Given the description of an element on the screen output the (x, y) to click on. 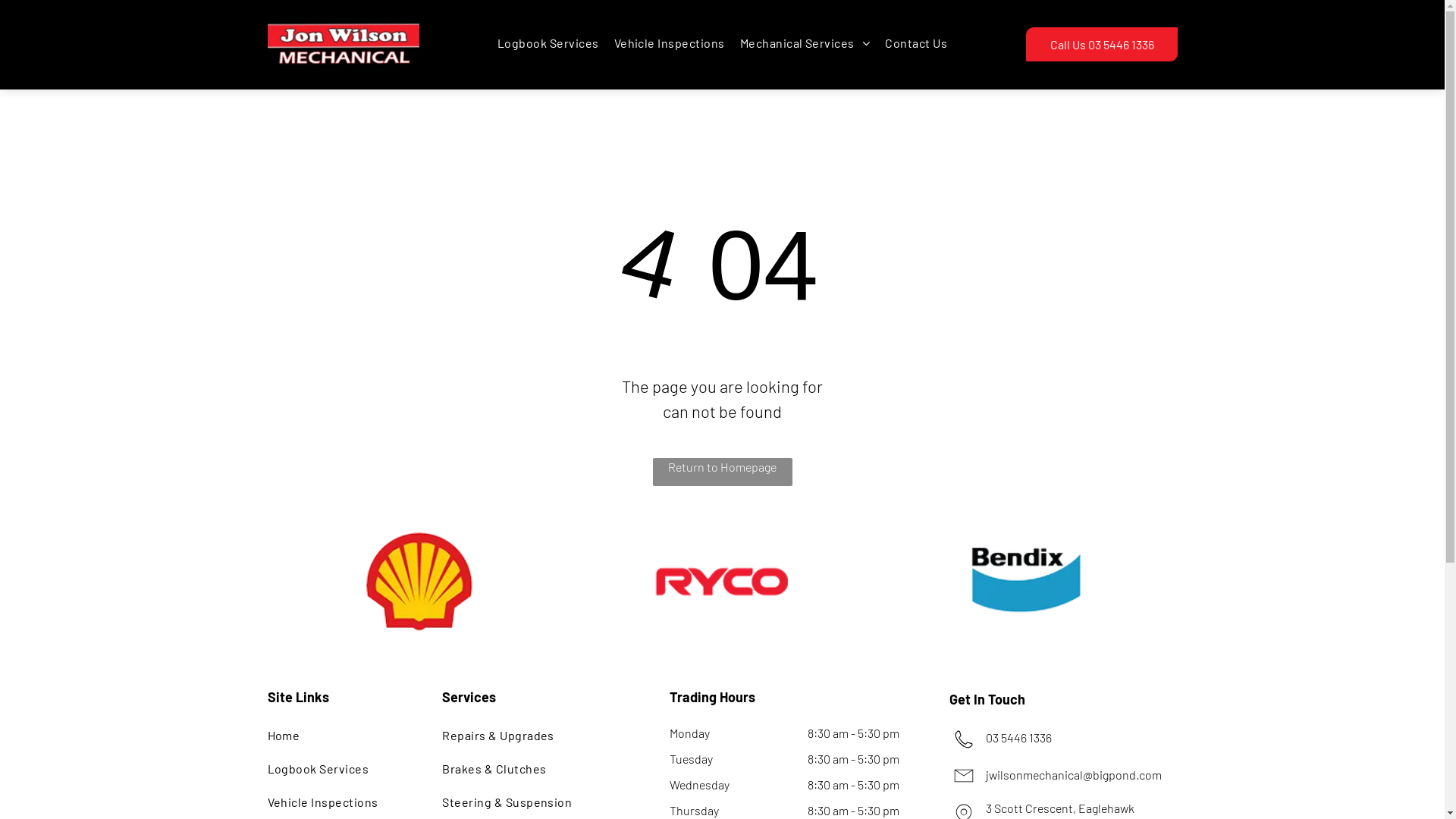
Call Us 03 5446 1336 Element type: text (1100, 44)
Home Element type: text (340, 734)
Logbook Services Element type: text (340, 768)
Mechanical Services Element type: text (805, 43)
Vehicle Inspections Element type: text (669, 43)
Return to Homepage Element type: text (721, 472)
Contact Us Element type: text (915, 43)
jwilsonmechanical@bigpond.com Element type: text (1073, 774)
03 5446 1336 Element type: text (1018, 737)
Logbook Services Element type: text (547, 43)
Brakes & Clutches Element type: text (537, 768)
Repairs & Upgrades Element type: text (537, 734)
Jon Wilson Mechanical: Qualified Auto Mechanics in Eaglehawk Element type: hover (342, 44)
